Given the description of an element on the screen output the (x, y) to click on. 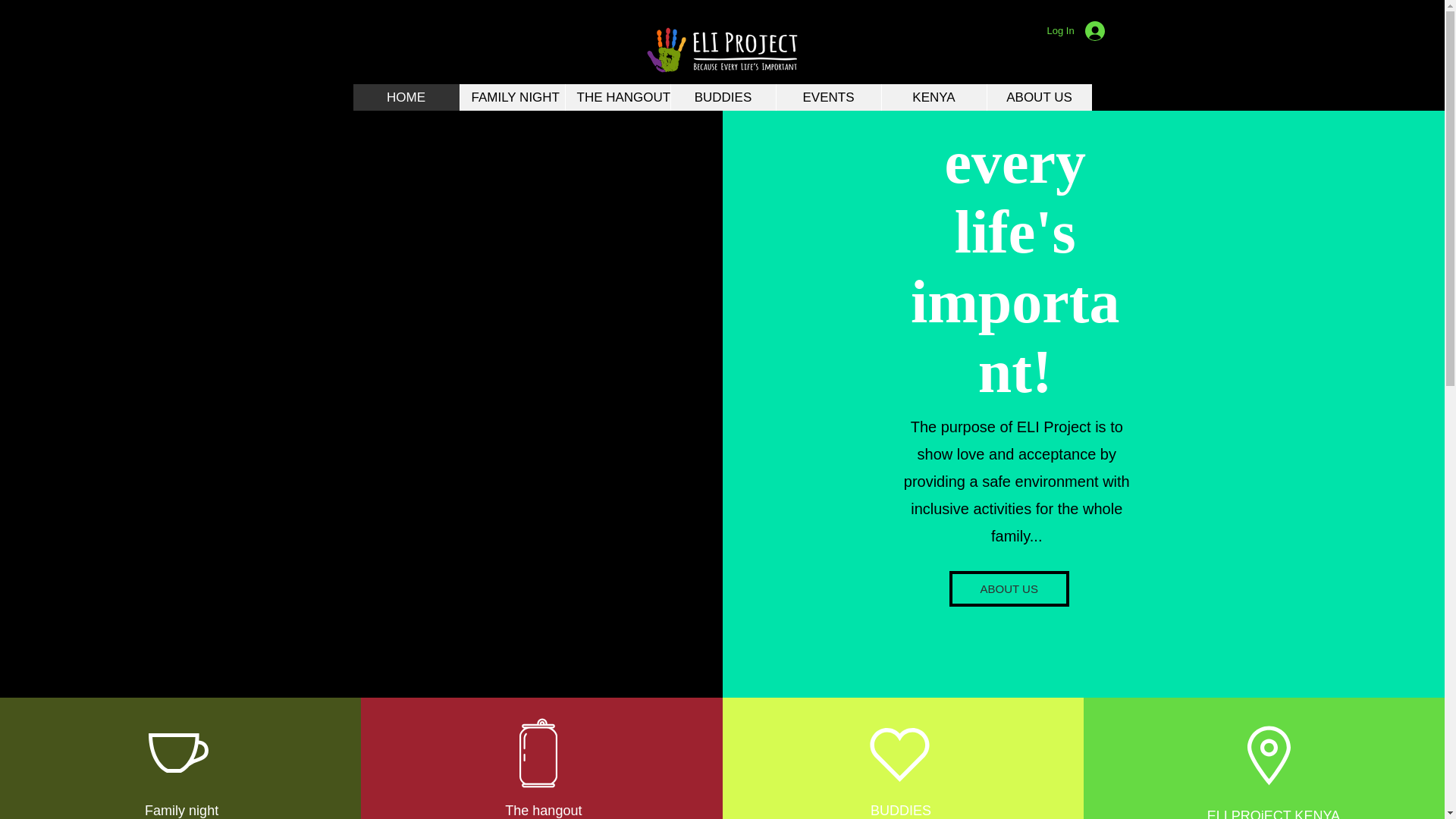
Log In (1075, 30)
HOME (406, 97)
ELI Project Logo-Horizontal.png (722, 49)
The hangout (542, 810)
Family night (181, 810)
ELI PROjECT KENYA (1273, 813)
ABOUT US (1008, 588)
KENYA (933, 97)
FAMILY NIGHT (512, 97)
ABOUT US (1037, 97)
